Given the description of an element on the screen output the (x, y) to click on. 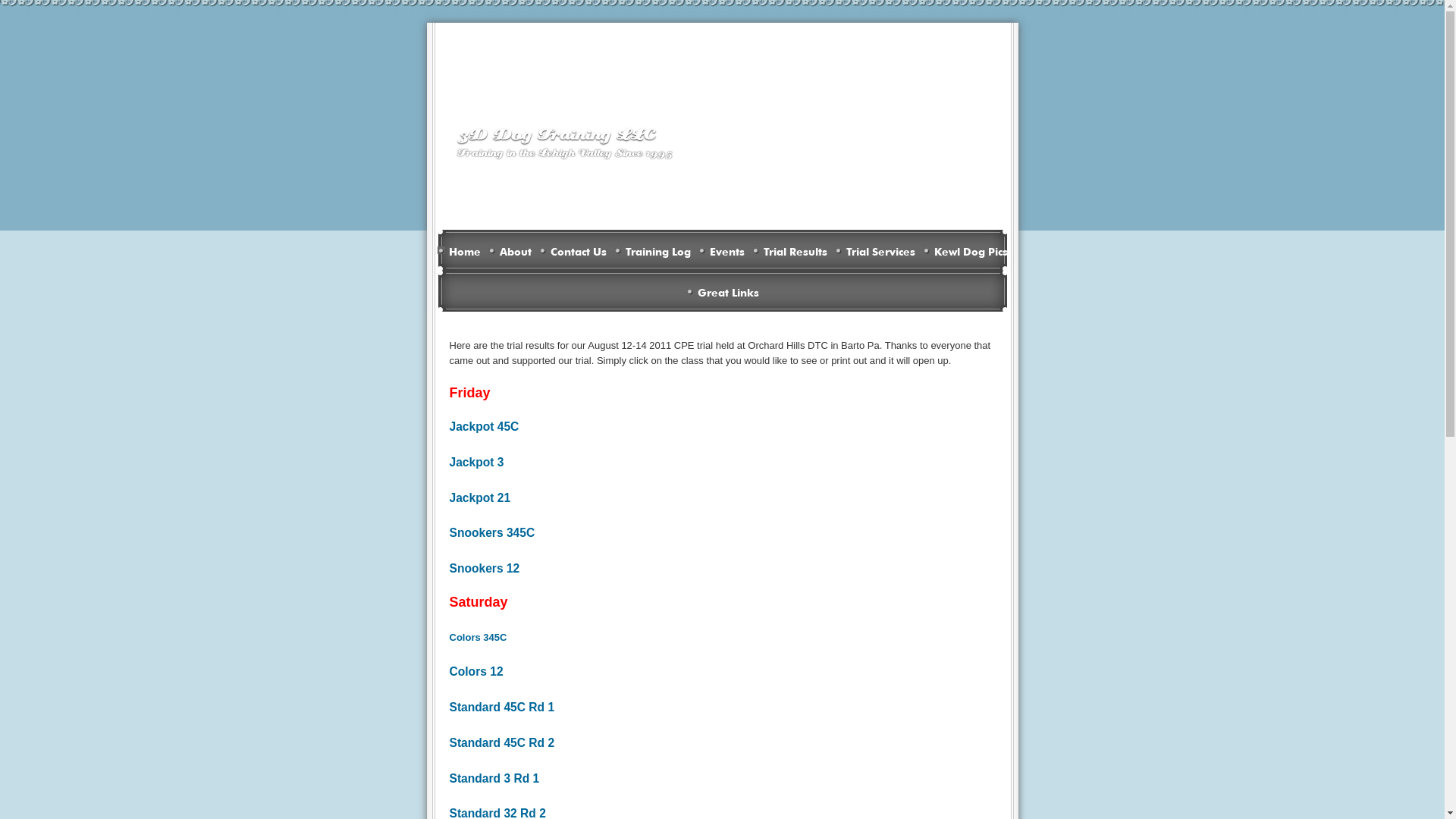
Colors 345C Element type: text (477, 637)
Home Element type: text (458, 249)
Training Log Element type: text (652, 249)
Snookers 345C Element type: text (491, 533)
Jackpot 45C Element type: text (483, 426)
Trial Results Element type: text (789, 249)
Colors 12 Element type: text (475, 671)
About Element type: text (509, 249)
Events Element type: text (720, 249)
Standard 45C Rd 1 Element type: text (501, 707)
Training in the Lehigh Valley Since 1995 Element type: text (563, 153)
Great Links Element type: text (721, 290)
Snookers 12 Element type: text (483, 568)
Trial Services Element type: text (874, 249)
Standard 3 Rd 1 Element type: text (493, 778)
Kewl Dog Pics Element type: text (964, 249)
Contact Us Element type: text (571, 249)
Jackpot 21 Element type: text (479, 498)
3D Dog Training LLC Element type: text (554, 132)
Jackpot 3 Element type: text (475, 462)
Standard 45C Rd 2 Element type: text (501, 743)
